Given the description of an element on the screen output the (x, y) to click on. 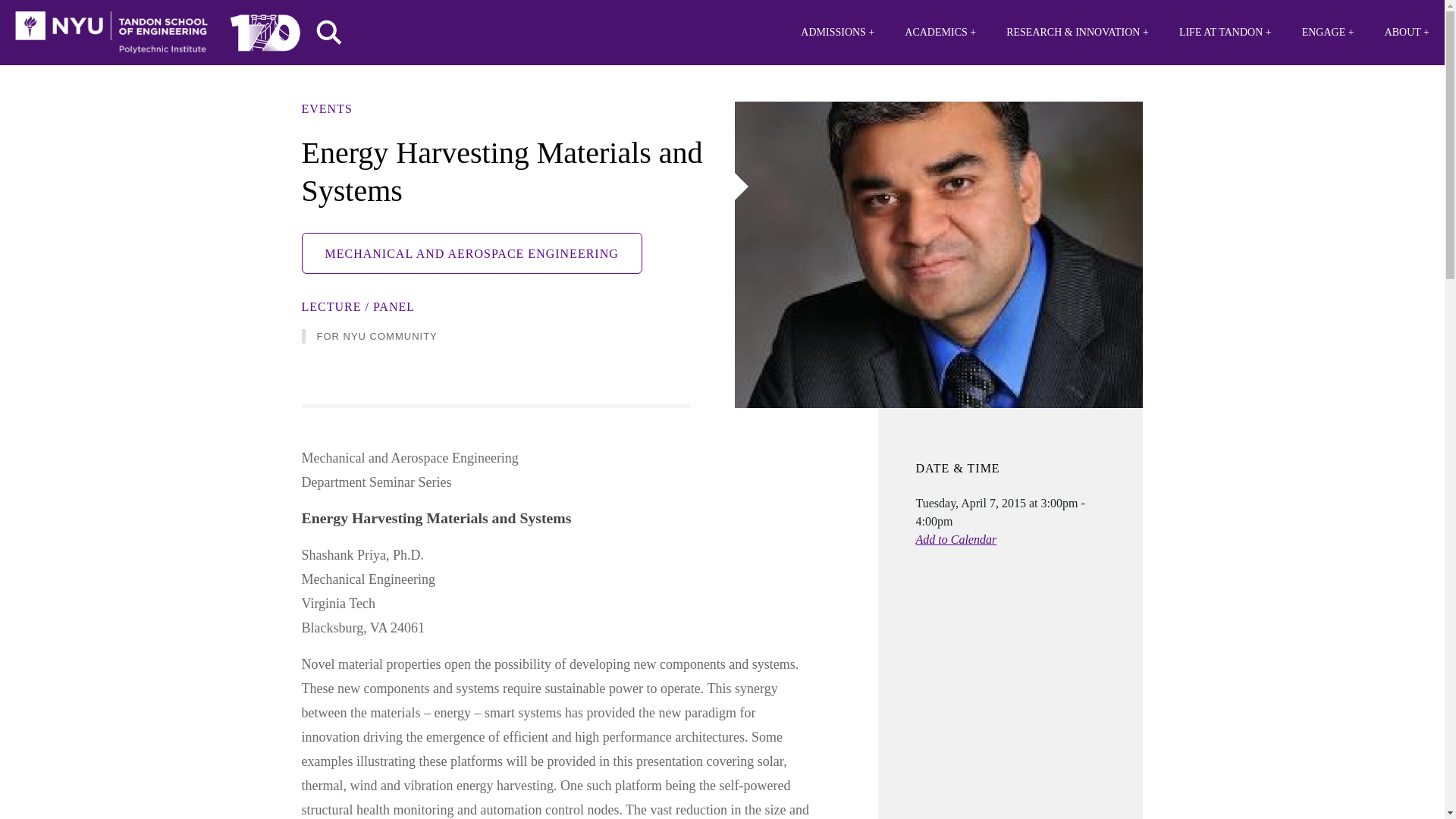
NYU Tandon Anniversary (264, 29)
NYU Tandon School of Engineering - Polytechnic Institute (111, 32)
NYU Tandon Logo (111, 32)
